Given the description of an element on the screen output the (x, y) to click on. 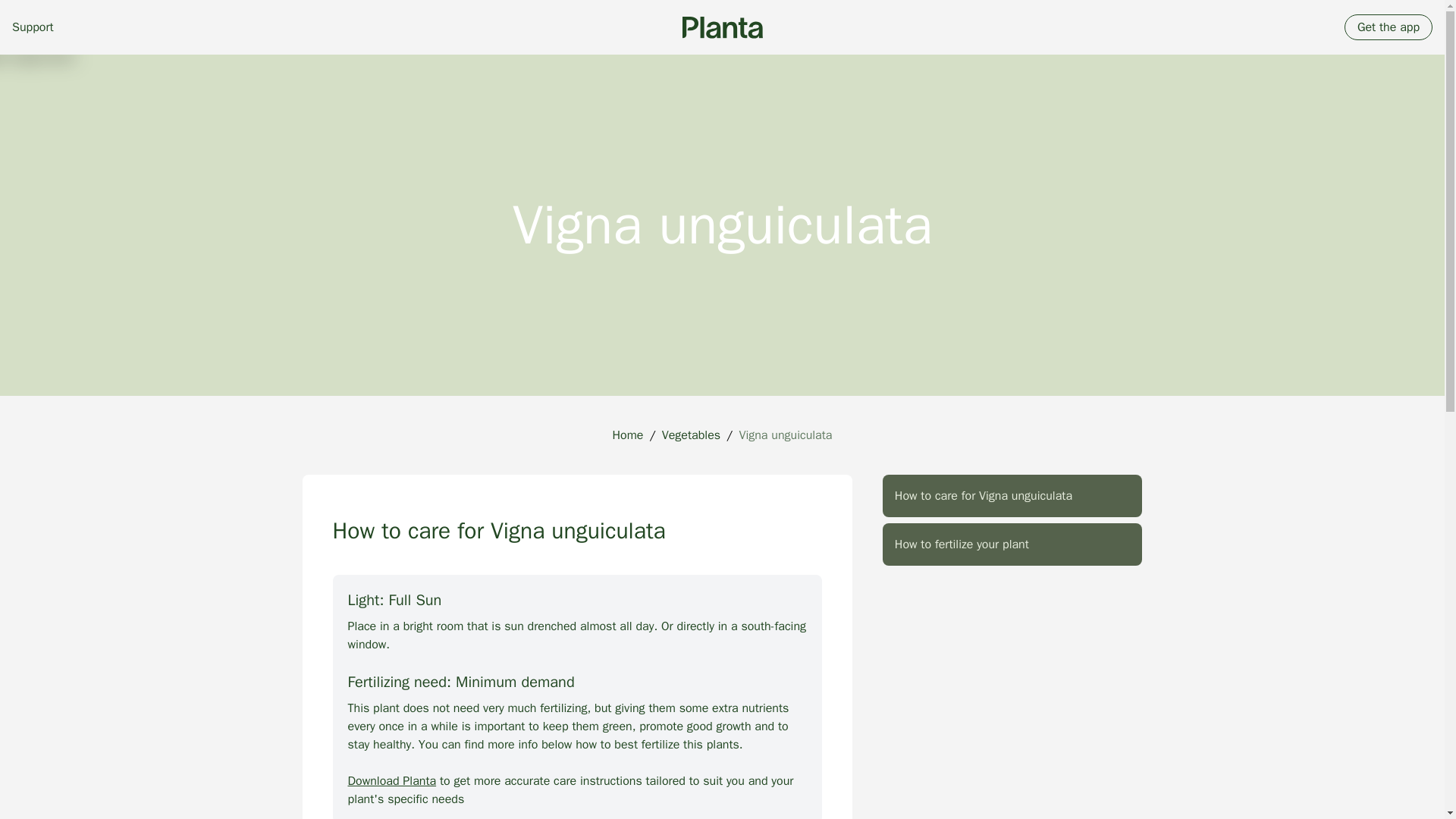
Home (627, 434)
Vigna unguiculata (784, 434)
How to care for Vigna unguiculata (1012, 495)
Download Planta (391, 780)
Get the app (1387, 27)
How to fertilize your plant (1012, 544)
Vegetables (691, 434)
Support (32, 27)
Planta app (722, 27)
